Given the description of an element on the screen output the (x, y) to click on. 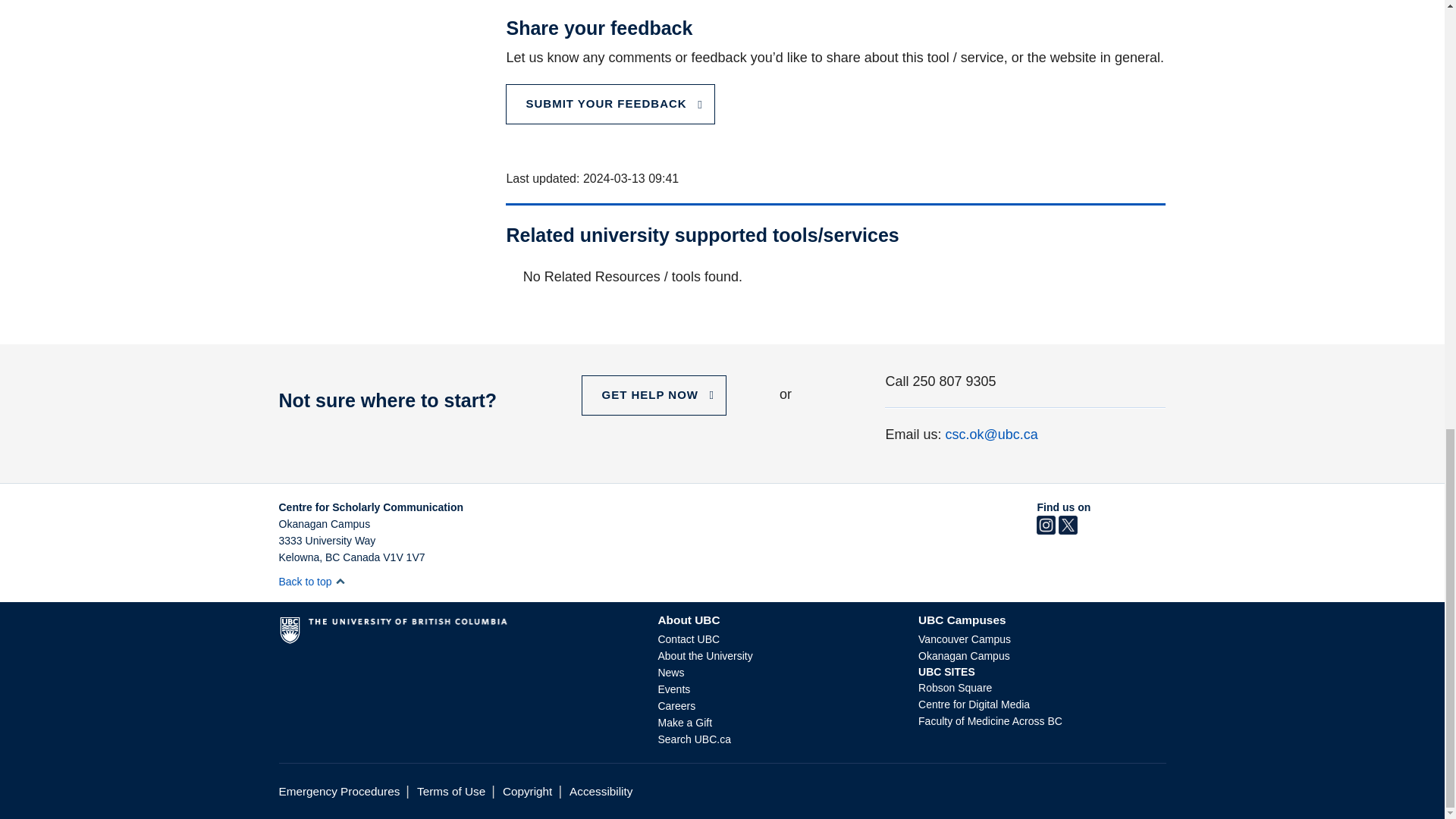
Emergency Procedures (339, 790)
Accessibility (600, 790)
Back to top (312, 581)
Instagram icon (1045, 530)
UBC Copyright (526, 790)
Terms of Use (450, 790)
Twitter icon (1067, 530)
